Given the description of an element on the screen output the (x, y) to click on. 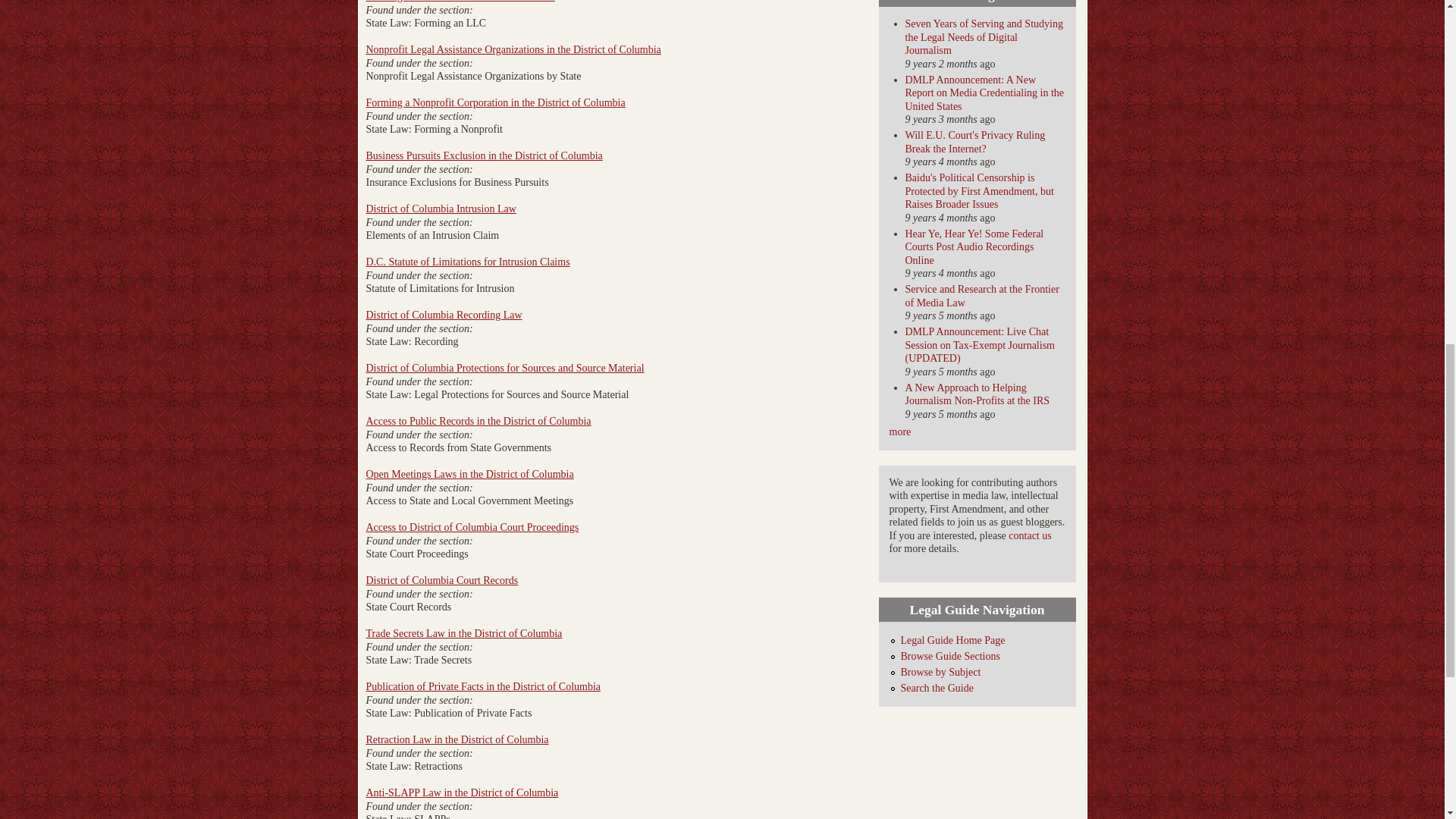
Publication of Private Facts in the District of Columbia (482, 686)
District of Columbia Recording Law (443, 315)
Trade Secrets Law in the District of Columbia (463, 633)
Forming a Nonprofit Corporation in the District of Columbia (494, 102)
Access to Public Records in the District of Columbia (478, 420)
Browse the legal guide by main topic areas (950, 655)
Browse the legal guide by subject area (941, 672)
D.C. Statute of Limitations for Intrusion Claims (467, 261)
Open Meetings Laws in the District of Columbia (469, 473)
Anti-SLAPP Law in the District of Columbia (461, 792)
District of Columbia Court Records (441, 580)
Business Pursuits Exclusion in the District of Columbia (483, 155)
Search the CMLP legal guide (937, 687)
District of Columbia Intrusion Law (440, 208)
